Given the description of an element on the screen output the (x, y) to click on. 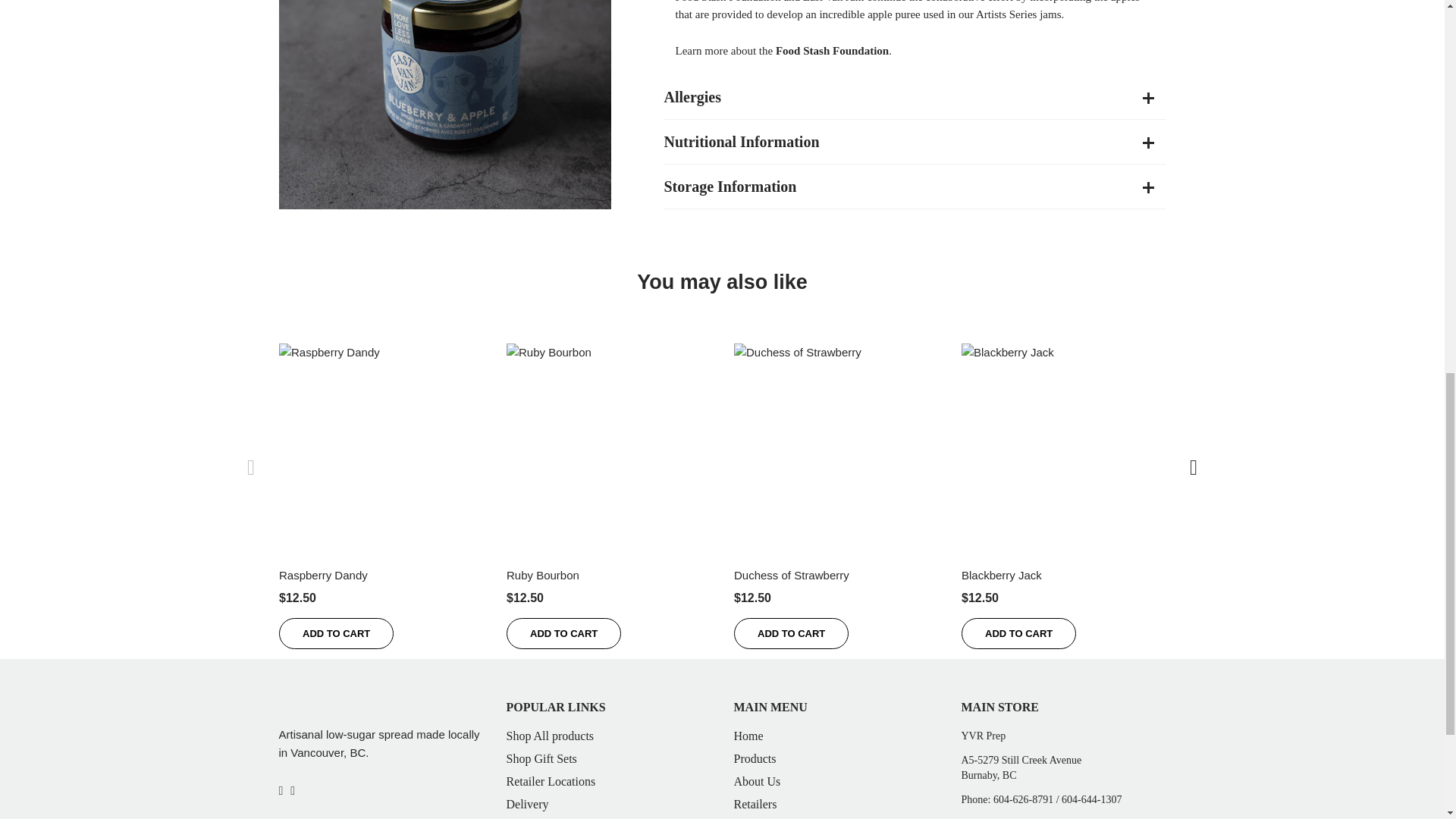
Ruby Bourbon (542, 574)
Raspberry Dandy (381, 445)
View all (722, 282)
Duchess of Strawberry (790, 574)
Duchess of Strawberry (836, 445)
Blackberry Jack (1063, 445)
Ruby Bourbon (608, 445)
Raspberry Dandy (323, 574)
